Given the description of an element on the screen output the (x, y) to click on. 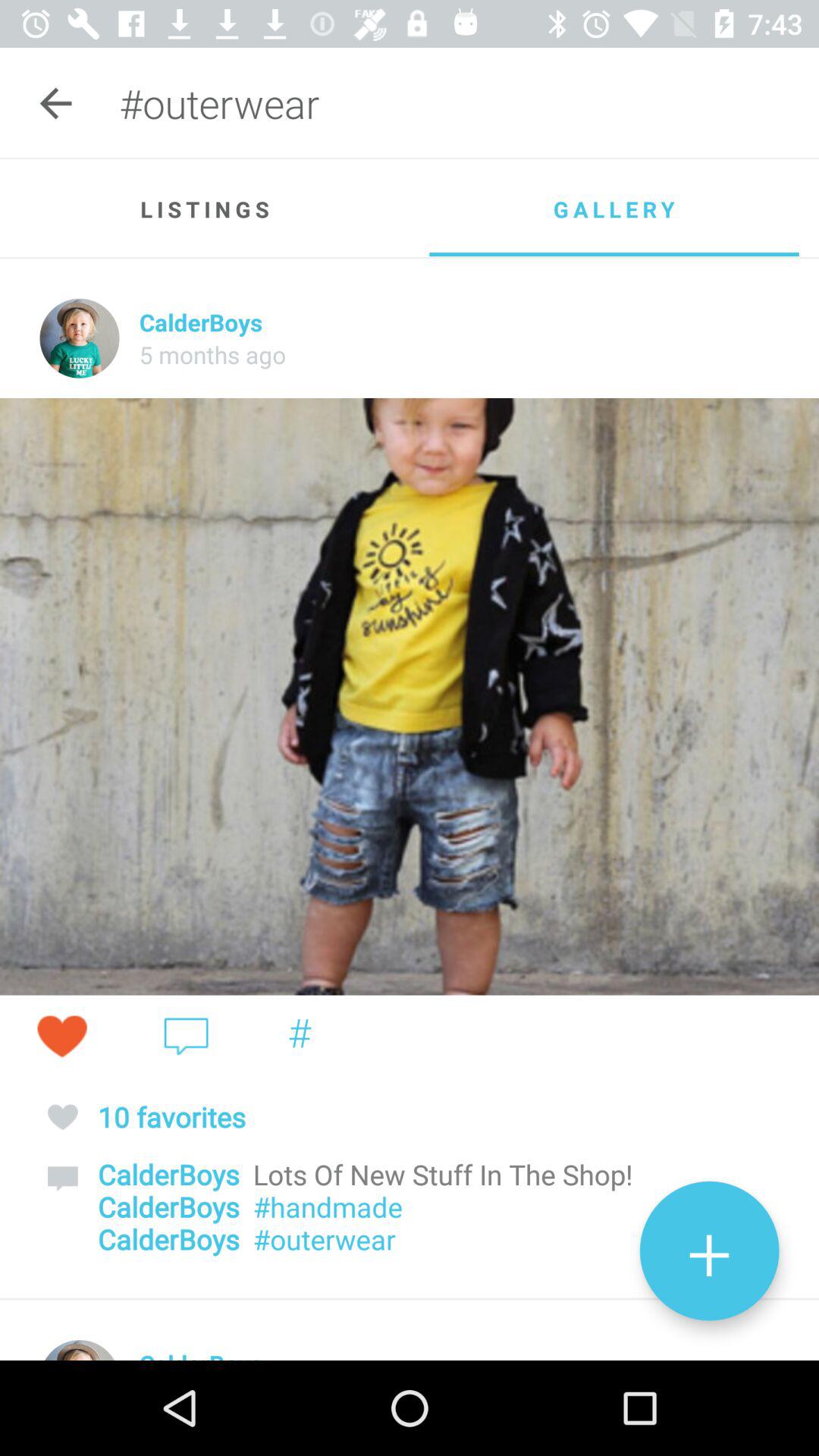
leave a comment (185, 1036)
